Given the description of an element on the screen output the (x, y) to click on. 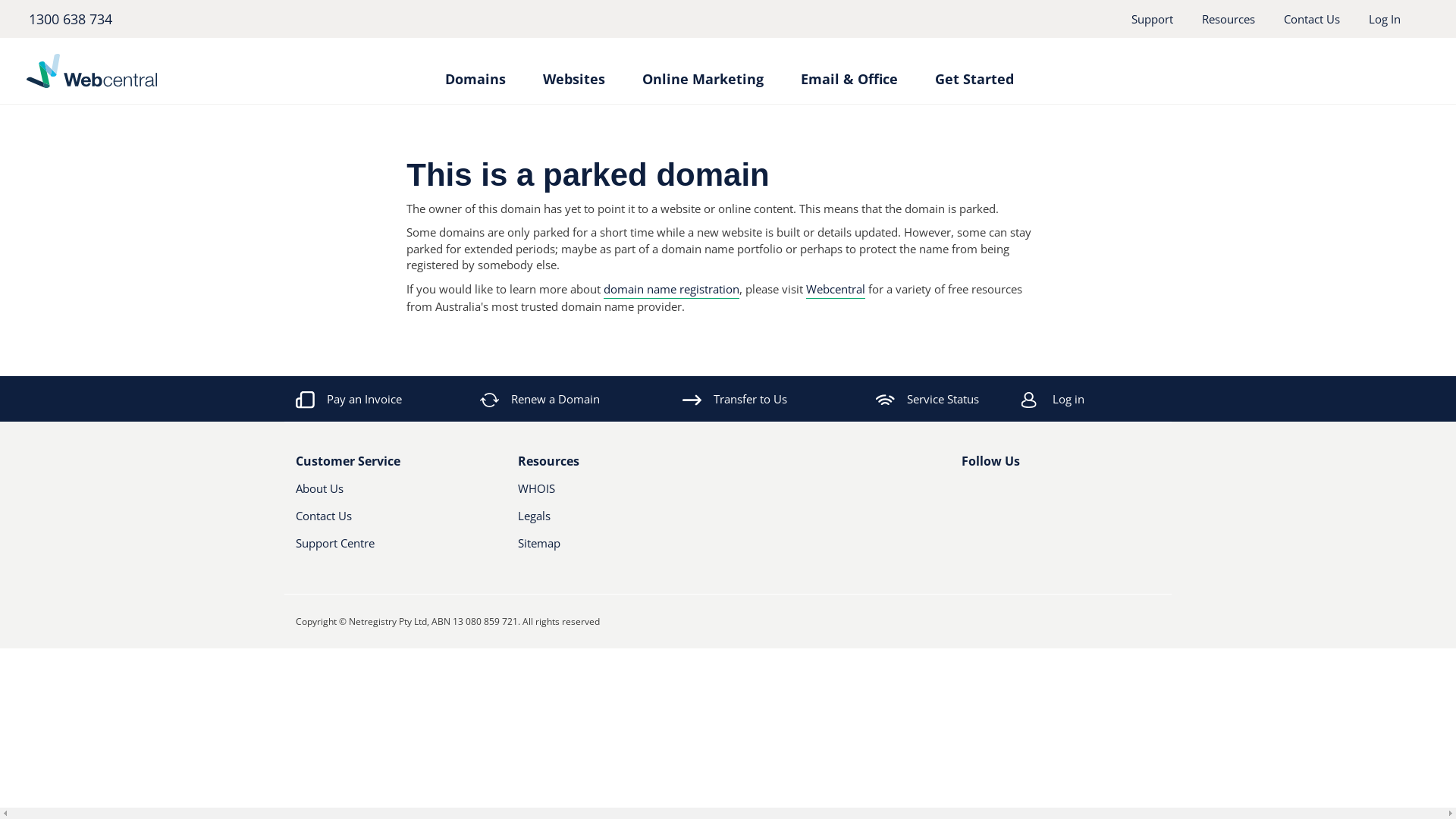
Websites Element type: text (573, 71)
Facebook Element type: hover (970, 494)
Contact Us Element type: text (379, 521)
Online Marketing Element type: text (701, 71)
Transfer to Us Element type: text (734, 398)
Contact Us Element type: text (1311, 18)
RSS Element type: hover (1045, 494)
domain name registration Element type: text (671, 289)
About Us Element type: text (379, 494)
Log in Element type: text (1111, 398)
Pay an Invoice Element type: text (348, 398)
Twitter Element type: hover (993, 494)
Legals Element type: text (601, 521)
1300 638 734 Element type: text (69, 18)
Get Started Element type: text (973, 71)
Support Centre Element type: text (395, 548)
Support Element type: text (1152, 18)
Email & Office Element type: text (848, 71)
Youtube Element type: hover (1019, 494)
Webcentral Element type: text (835, 289)
Renew a Domain Element type: text (540, 398)
WHOIS Element type: text (601, 494)
Resources Element type: text (1228, 18)
Webcentral Element type: hover (163, 70)
Sitemap Element type: text (616, 548)
Domains Element type: text (474, 71)
Service Status Element type: text (927, 398)
Log In Element type: text (1384, 18)
